Given the description of an element on the screen output the (x, y) to click on. 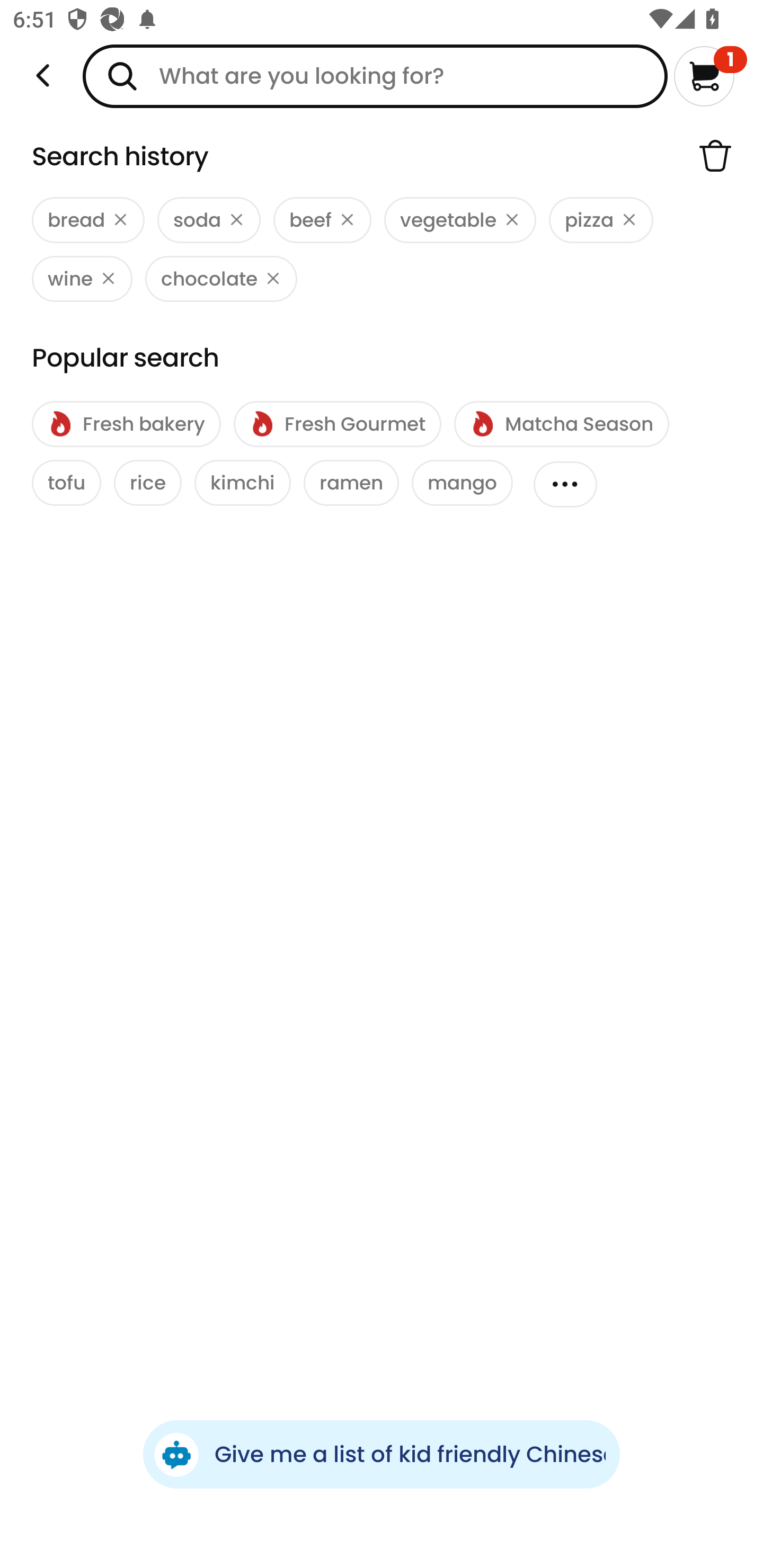
What are you looking for? (374, 75)
1 (709, 75)
Weee! (42, 76)
bread (88, 220)
soda (208, 220)
beef (322, 220)
vegetable (459, 220)
pizza (600, 220)
wine (82, 278)
chocolate (220, 278)
Fresh bakery (126, 423)
Fresh Gourmet (337, 423)
Matcha Season (561, 423)
tofu (66, 482)
rice (147, 482)
kimchi (242, 482)
ramen (351, 482)
mango (462, 482)
